Given the description of an element on the screen output the (x, y) to click on. 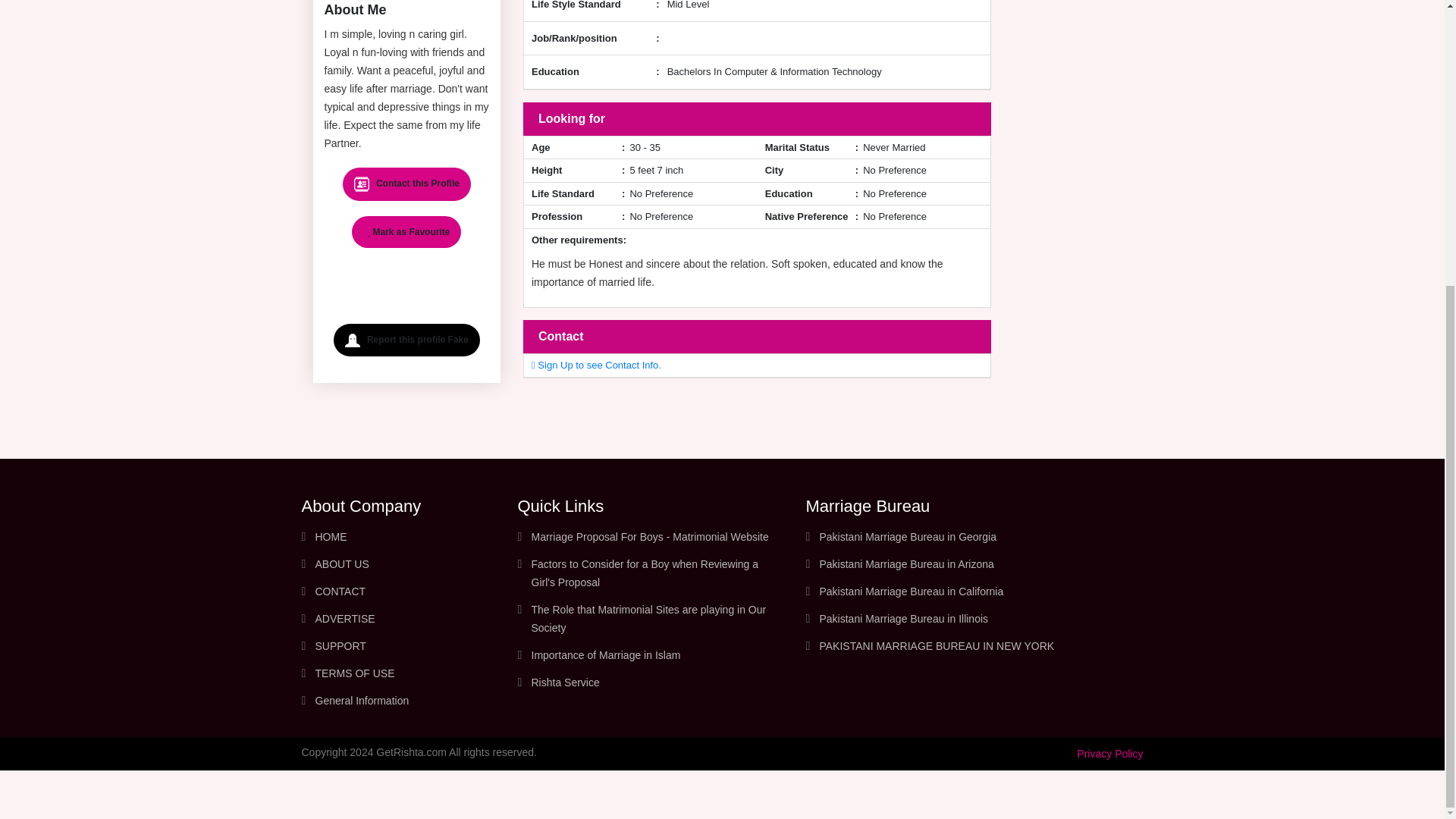
Pakistani Marriage Bureau in Georgia (906, 536)
The Role that Matrimonial Sites are playing in Our Society (648, 618)
CONTACT (340, 591)
SUPPORT (340, 645)
Bride Preparation Tips (362, 700)
Pakistani Marriage Bureau in Illinois (903, 618)
Pakistani Marriage Bureau in Arizona (905, 563)
General Information (362, 700)
Pakistani Marriage Bureau in Arizona (905, 563)
Report this profile Fake (406, 339)
HOME (331, 536)
Mark as Favourite (406, 232)
Marriage Proposal For Boys - Matrimonial Website (649, 536)
ABOUT US (342, 563)
Importance of Marriage in Islam (605, 654)
